Given the description of an element on the screen output the (x, y) to click on. 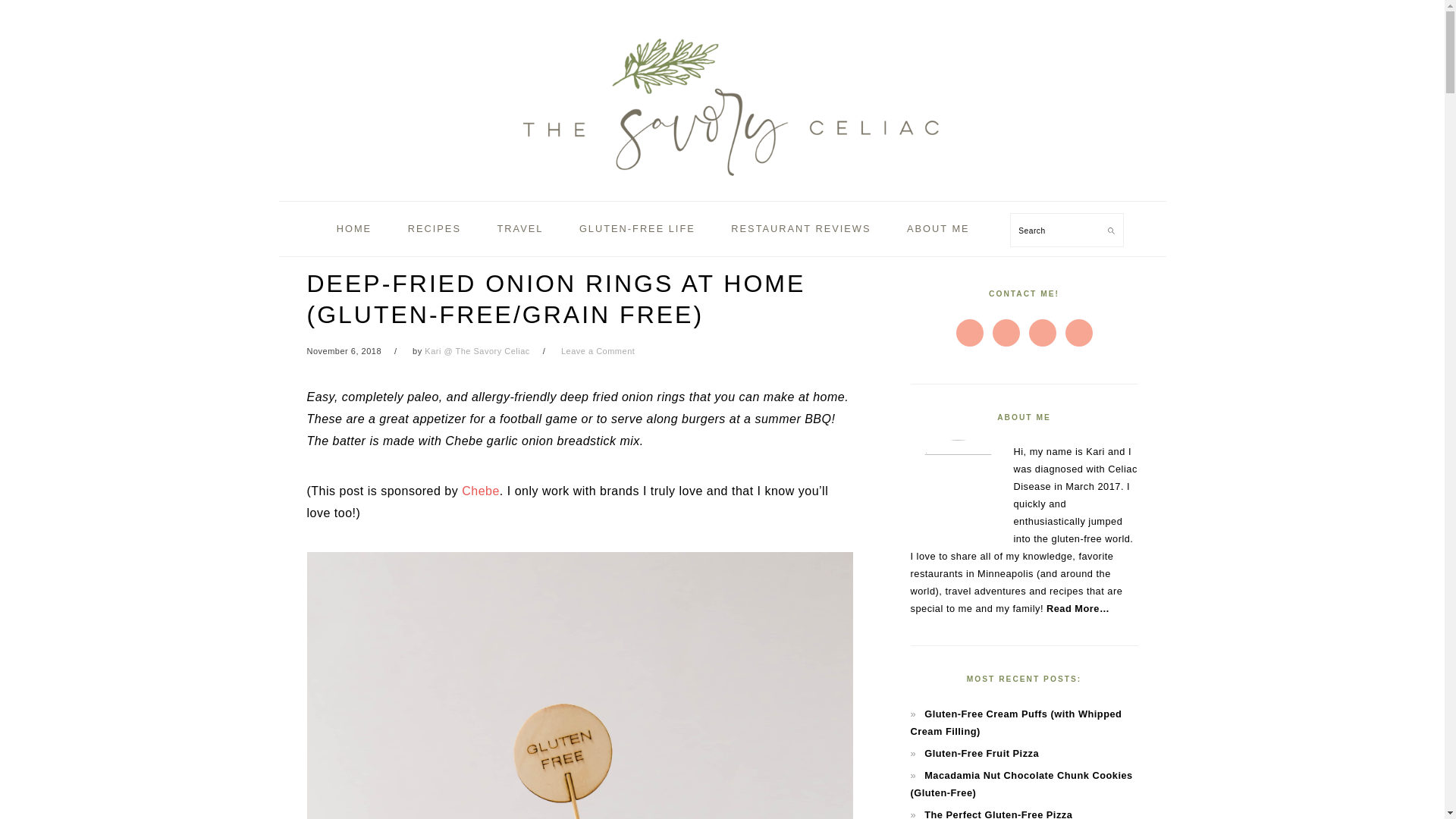
Leave a Comment (597, 350)
ABOUT ME (938, 228)
The Savory Celiac (722, 183)
GLUTEN-FREE LIFE (637, 228)
Chebe (480, 490)
HOME (353, 228)
